Given the description of an element on the screen output the (x, y) to click on. 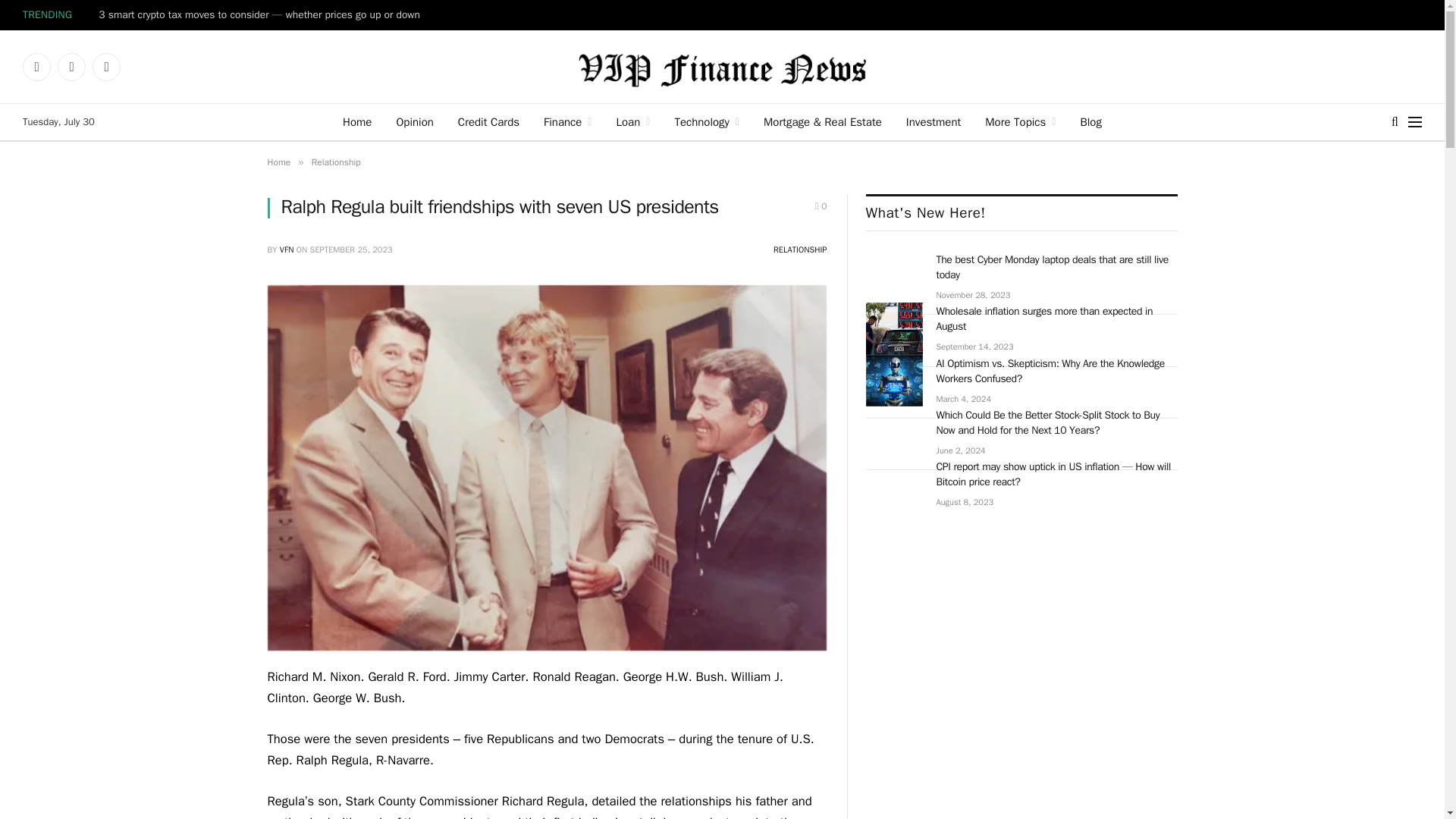
Posts by VFN (286, 249)
VIPFinanceNews.com (721, 66)
2023-09-25 (351, 249)
